Given the description of an element on the screen output the (x, y) to click on. 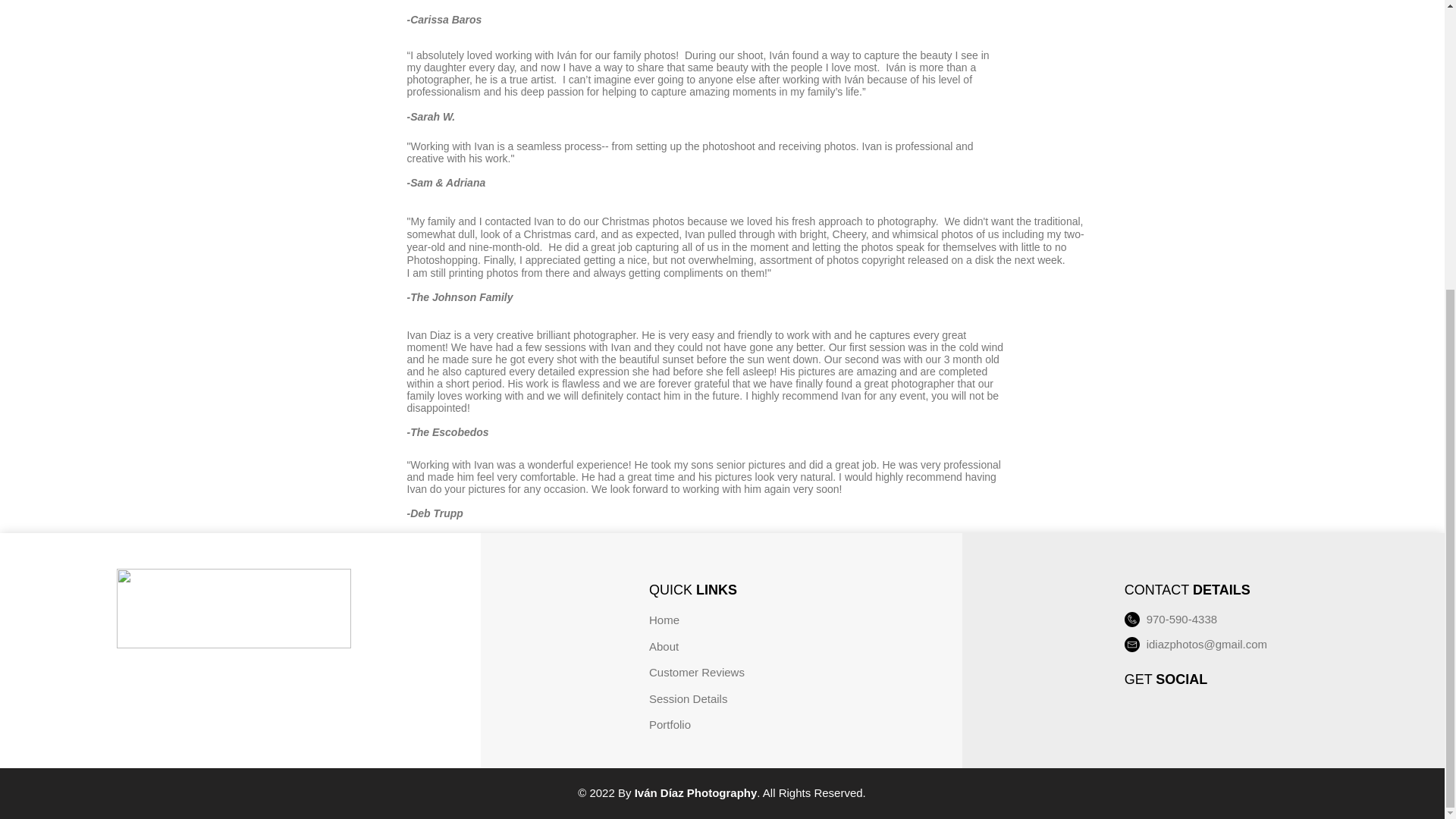
Home (664, 619)
About (663, 645)
Customer Reviews (696, 671)
Session Details (687, 698)
Portfolio (669, 724)
